Given the description of an element on the screen output the (x, y) to click on. 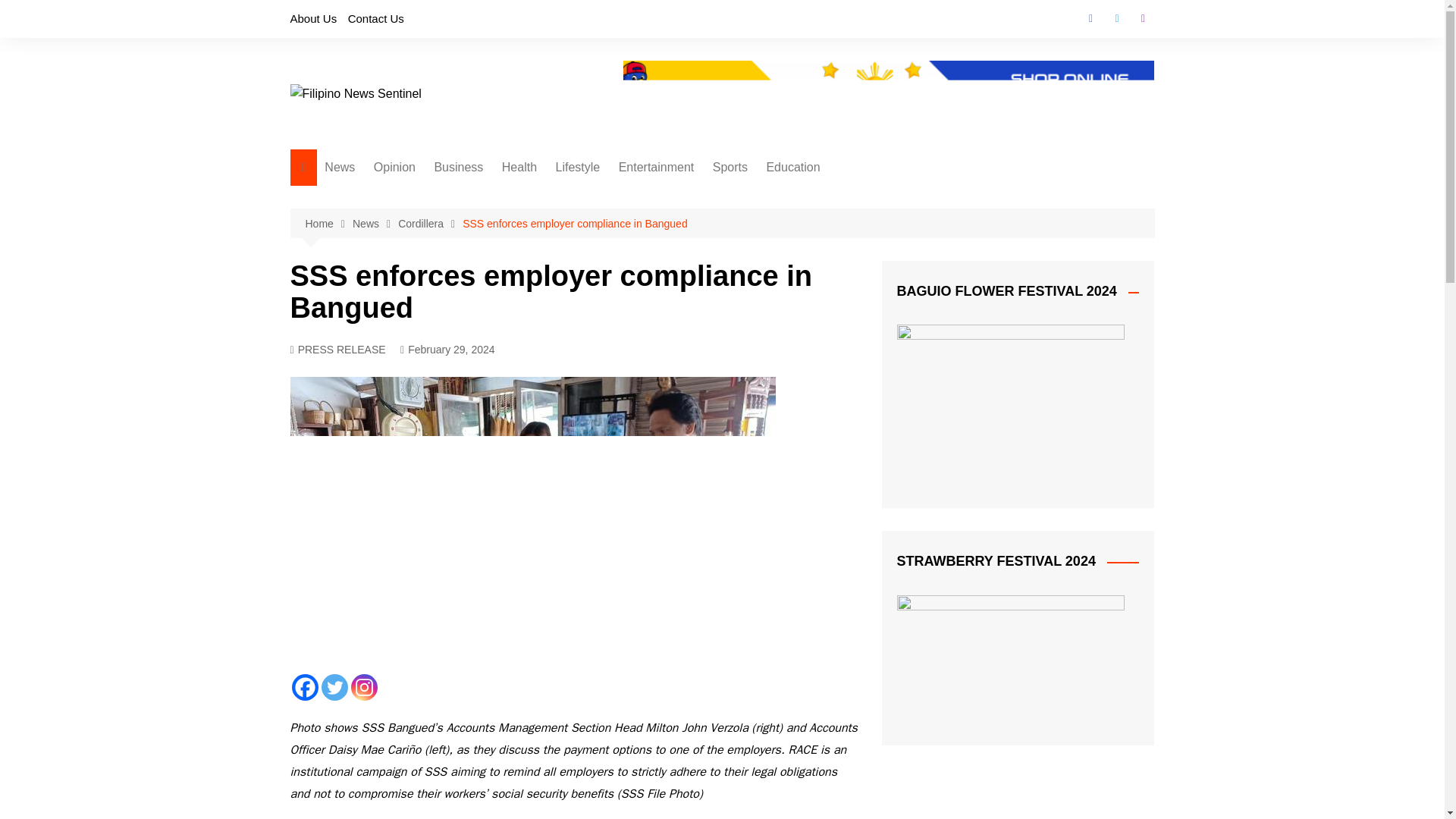
News (339, 167)
Facebook (1091, 18)
February 29, 2024 (447, 349)
Instagram (1142, 18)
Arts and Crafts (630, 222)
Instagram (363, 687)
Local News (400, 197)
Twitter (1116, 18)
Twitter (334, 687)
Islam is the Solution (449, 248)
Tourism (630, 197)
Fashion (630, 273)
Health (519, 167)
Education (792, 167)
News (374, 223)
